Given the description of an element on the screen output the (x, y) to click on. 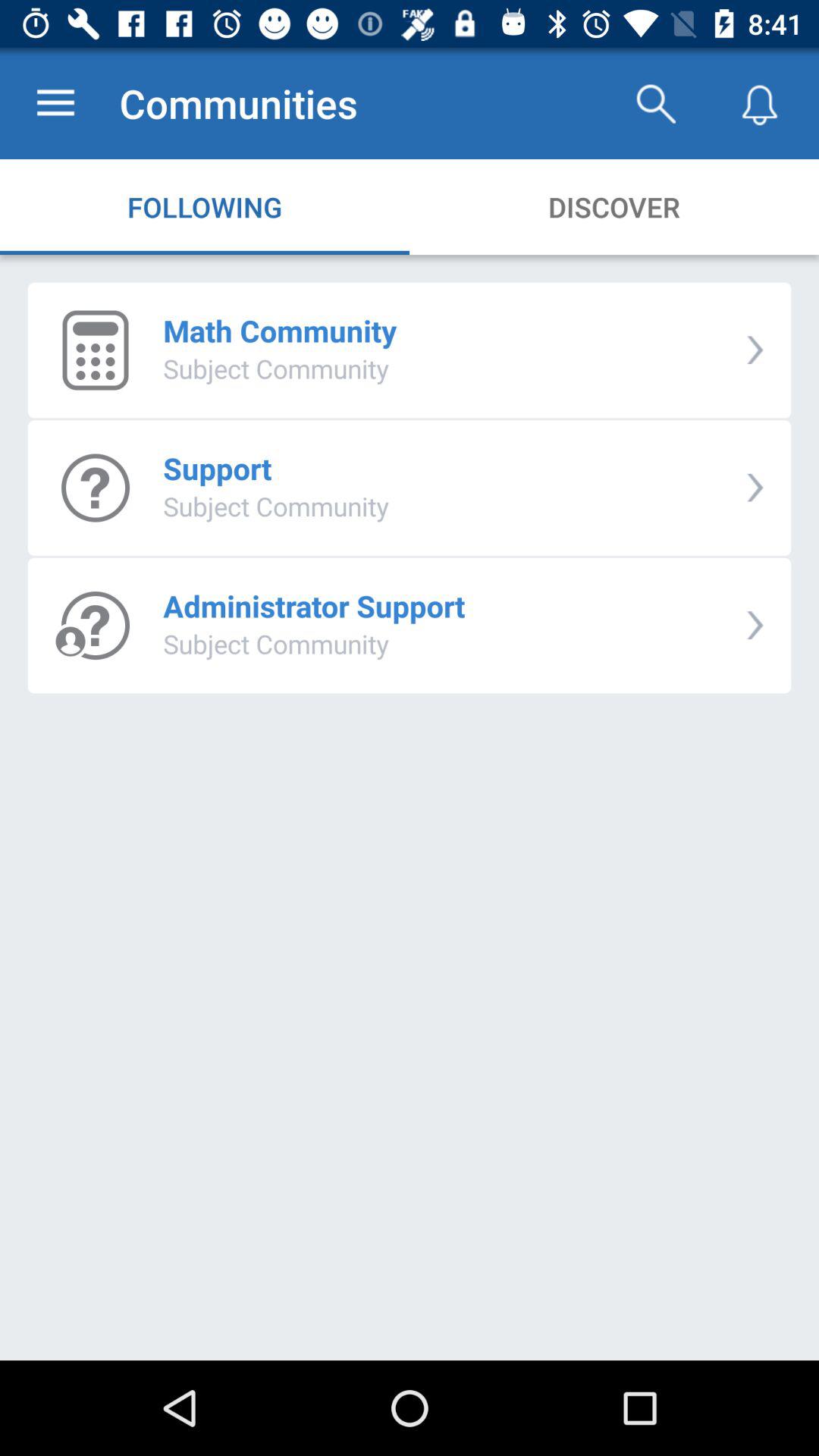
open icon above the discover (655, 103)
